Given the description of an element on the screen output the (x, y) to click on. 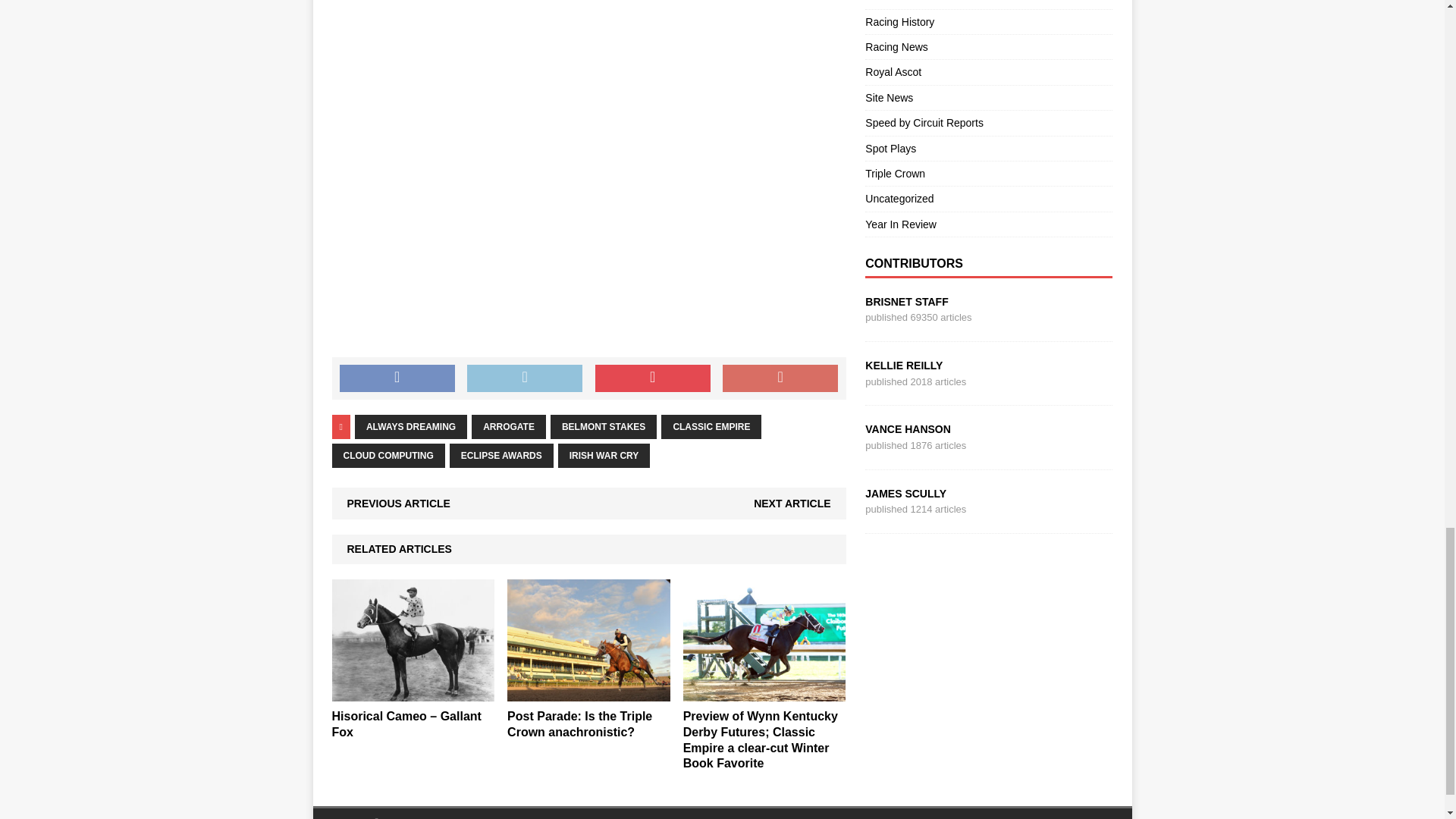
Share on Facebook (396, 378)
Post Parade: Is the Triple Crown anachronistic? (587, 693)
Tweet This Post (524, 378)
Pin This Post (652, 378)
Post Parade: Is the Triple Crown anachronistic? (579, 724)
